Given the description of an element on the screen output the (x, y) to click on. 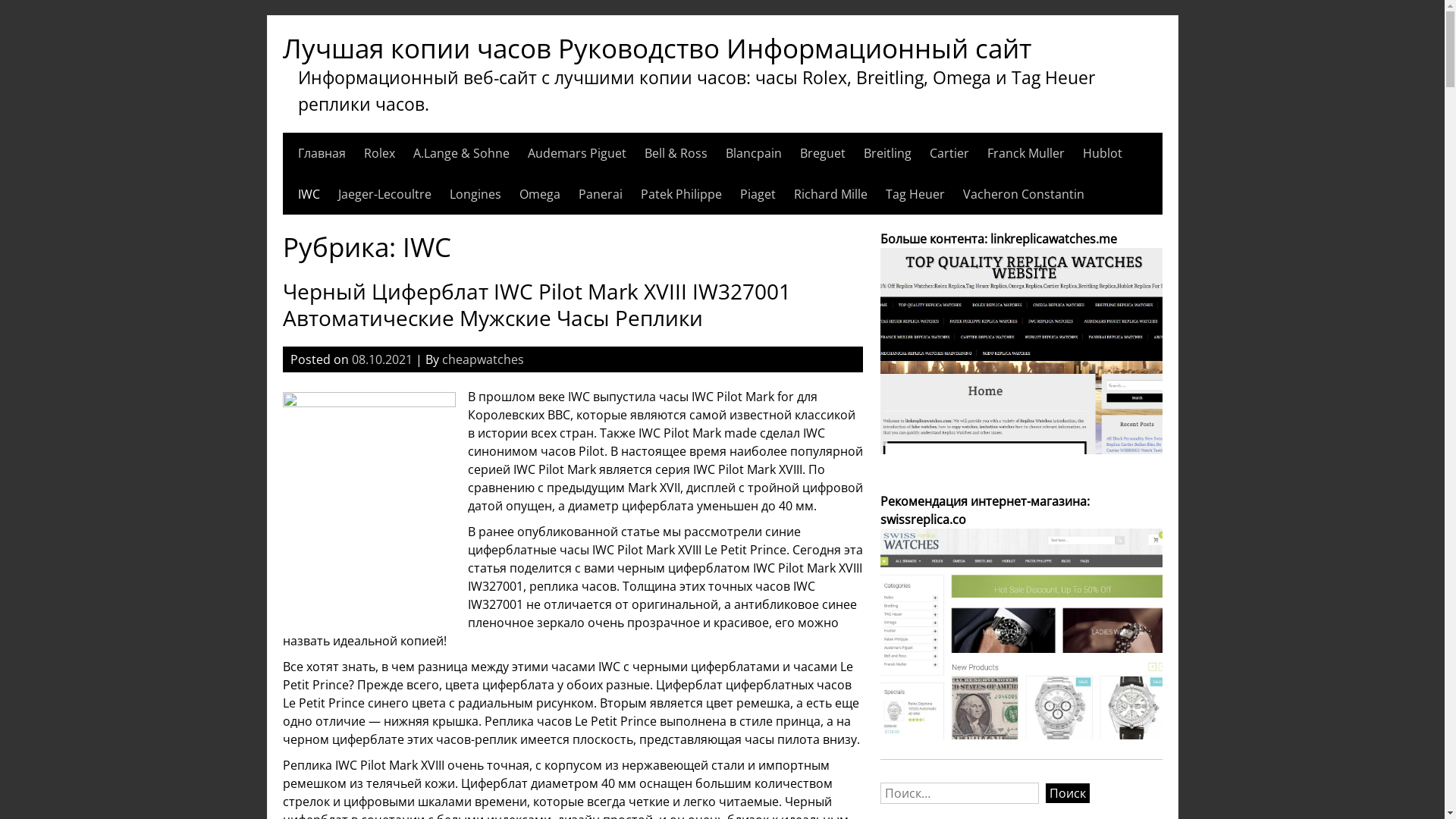
Hublot Element type: text (1102, 152)
Breguet Element type: text (821, 152)
08.10.2021 Element type: text (381, 359)
Patek Philippe Element type: text (680, 193)
Piaget Element type: text (757, 193)
cheapwatches Element type: text (482, 359)
Longines Element type: text (474, 193)
Bell & Ross Element type: text (675, 152)
Richard Mille Element type: text (829, 193)
Cartier Element type: text (949, 152)
A.Lange & Sohne Element type: text (460, 152)
IWC Element type: text (308, 193)
Audemars Piguet Element type: text (576, 152)
Omega Element type: text (538, 193)
Breitling Element type: text (886, 152)
Blancpain Element type: text (752, 152)
Rolex Element type: text (379, 152)
Panerai Element type: text (599, 193)
Vacheron Constantin Element type: text (1023, 193)
Tag Heuer Element type: text (914, 193)
Franck Muller Element type: text (1025, 152)
Jaeger-Lecoultre Element type: text (384, 193)
